Given the description of an element on the screen output the (x, y) to click on. 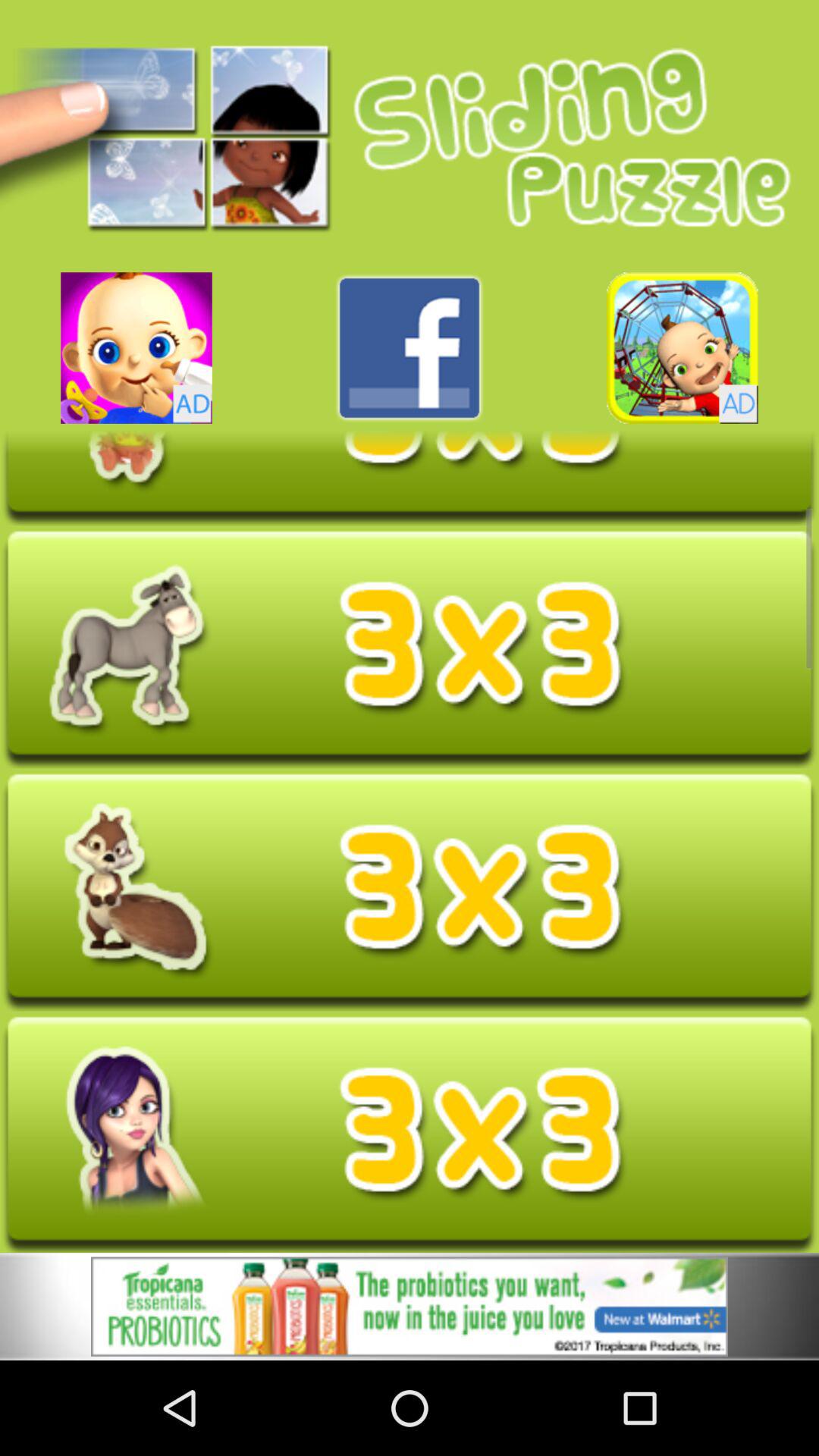
advertisement page (409, 1134)
